Given the description of an element on the screen output the (x, y) to click on. 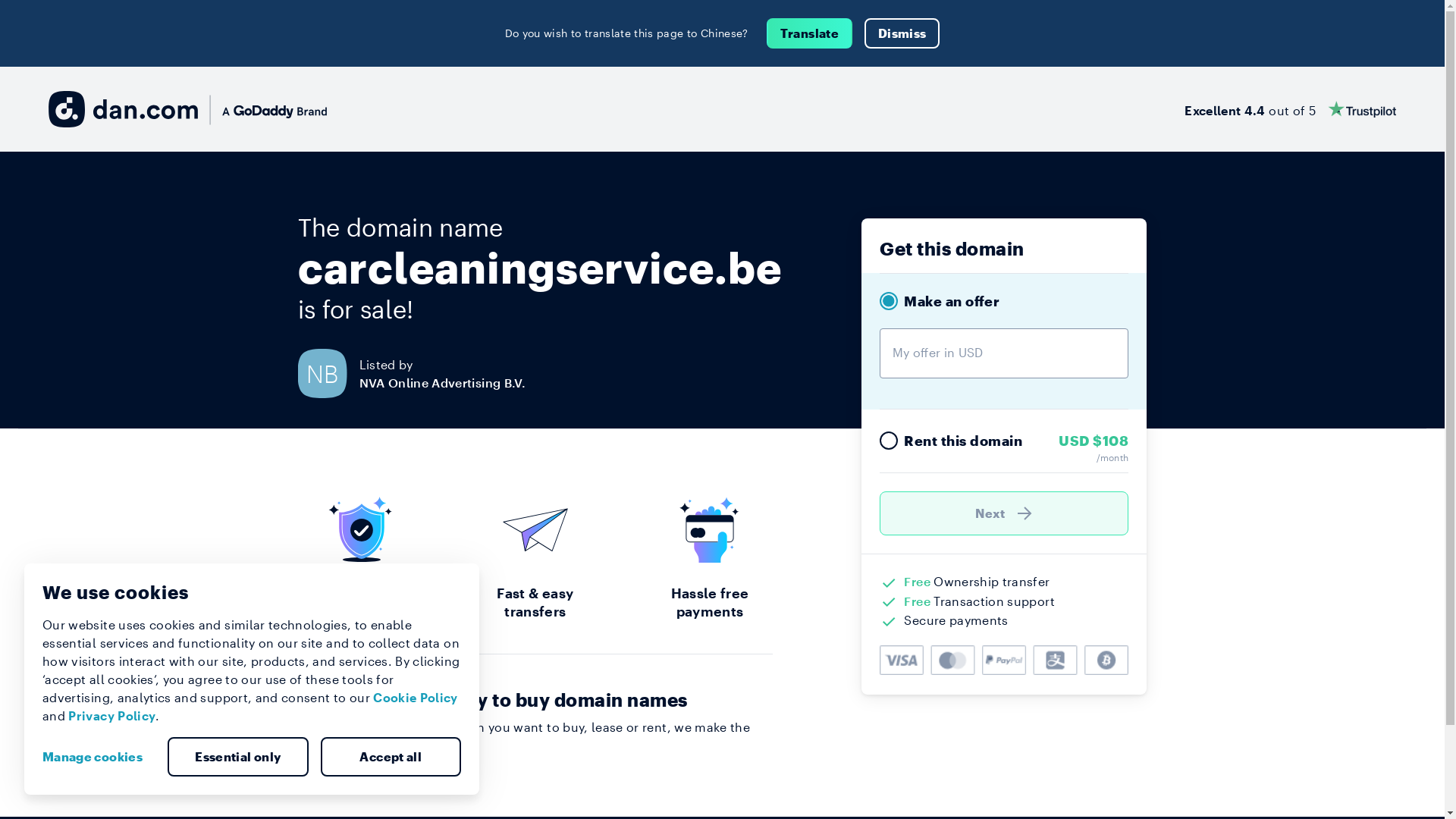
Excellent 4.4 out of 5 Element type: text (1290, 109)
Accept all Element type: text (390, 756)
Translate Element type: text (809, 33)
Privacy Policy Element type: text (111, 715)
Essential only Element type: text (237, 756)
Next
) Element type: text (1003, 513)
Manage cookies Element type: text (98, 756)
Dismiss Element type: text (901, 33)
Cookie Policy Element type: text (415, 697)
